Given the description of an element on the screen output the (x, y) to click on. 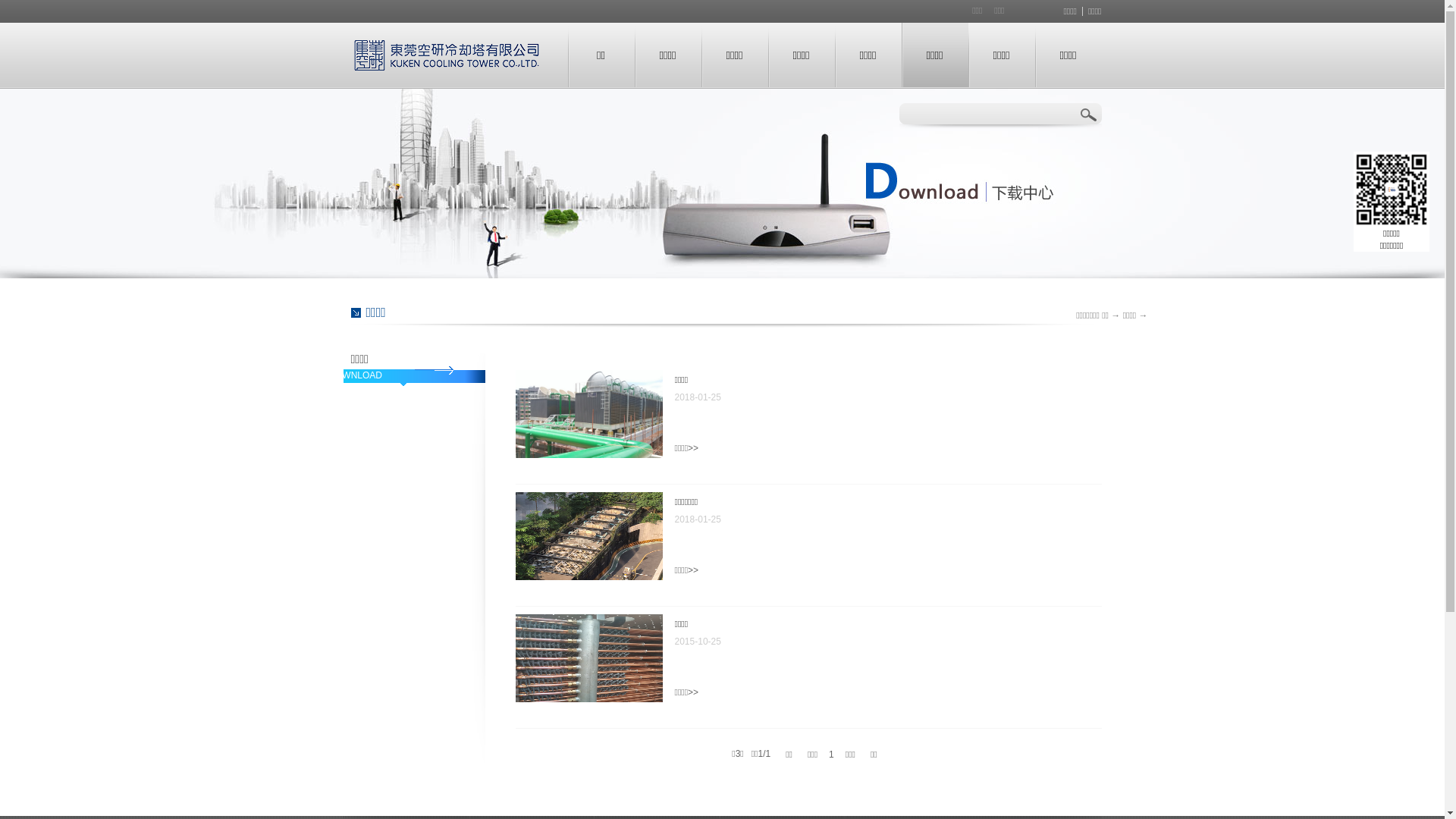
1 Element type: text (831, 754)
